Given the description of an element on the screen output the (x, y) to click on. 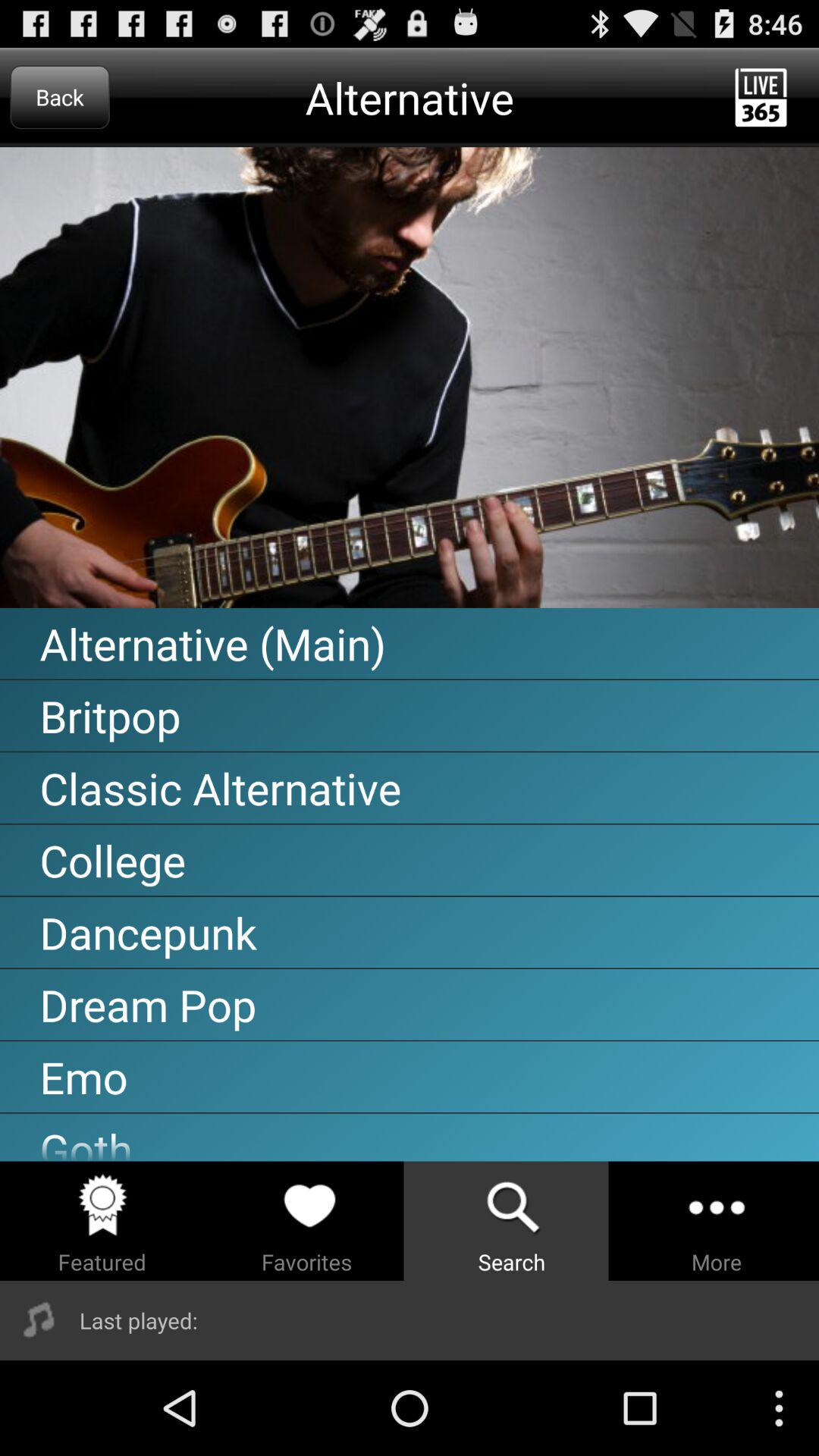
press item next to the alternative item (59, 97)
